Given the description of an element on the screen output the (x, y) to click on. 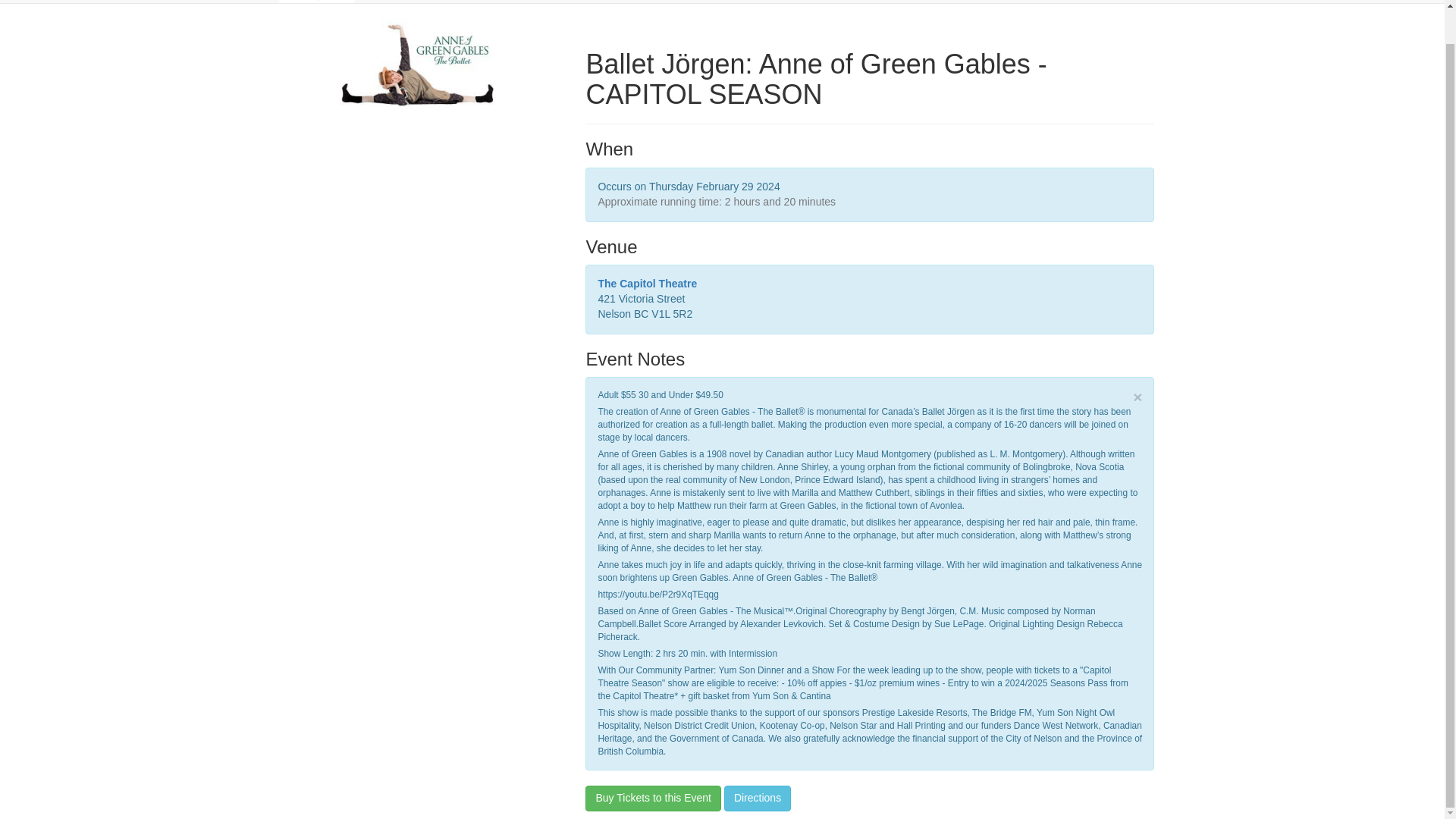
Tickets (386, 1)
Buy Tickets to this Event (652, 798)
Cart (1085, 1)
Donations (648, 1)
Merchandise (461, 1)
The Capitol Theatre (646, 283)
Login (1137, 1)
Directions (756, 798)
Gift Certificates (558, 1)
